Given the description of an element on the screen output the (x, y) to click on. 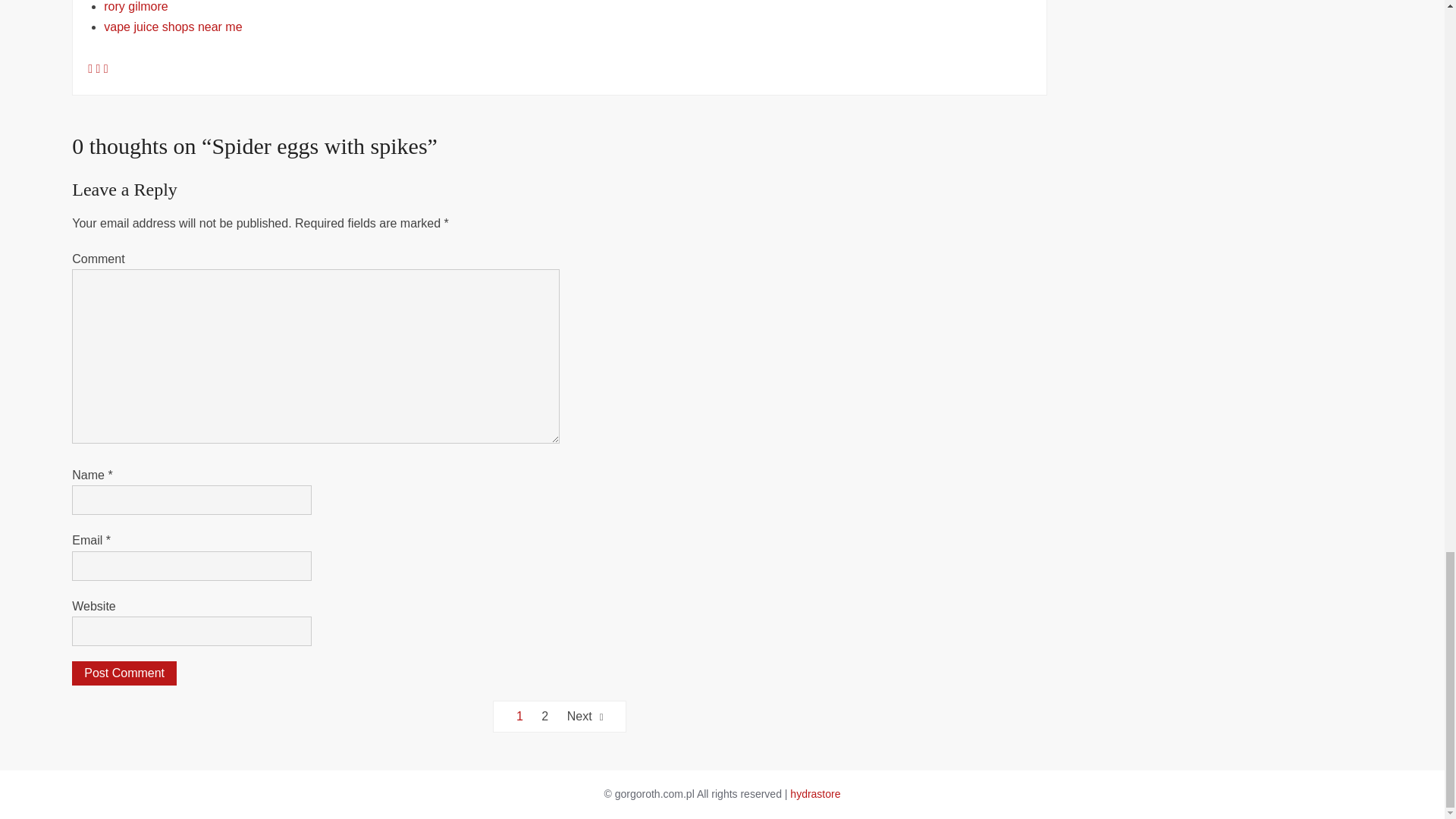
Next (585, 716)
Post Comment (123, 672)
vape juice shops near me (172, 26)
rory gilmore (135, 6)
Post Comment (123, 672)
hydrastore (815, 793)
